Given the description of an element on the screen output the (x, y) to click on. 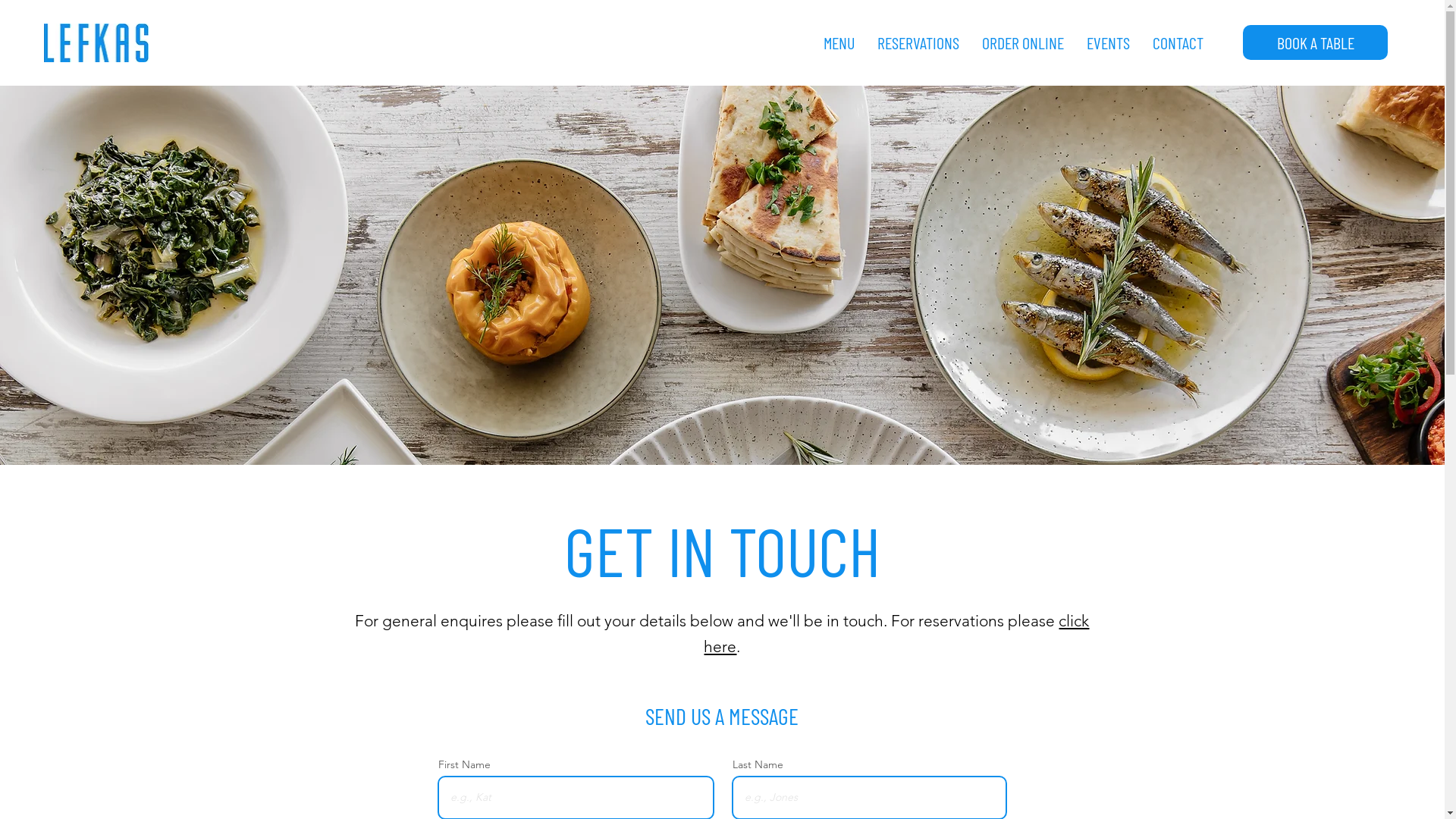
BOOK A TABLE Element type: text (1314, 42)
click here Element type: text (895, 633)
ORDER ONLINE Element type: text (1022, 42)
MENU Element type: text (839, 42)
EVENTS Element type: text (1108, 42)
CONTACT Element type: text (1177, 42)
RESERVATIONS Element type: text (918, 42)
